Given the description of an element on the screen output the (x, y) to click on. 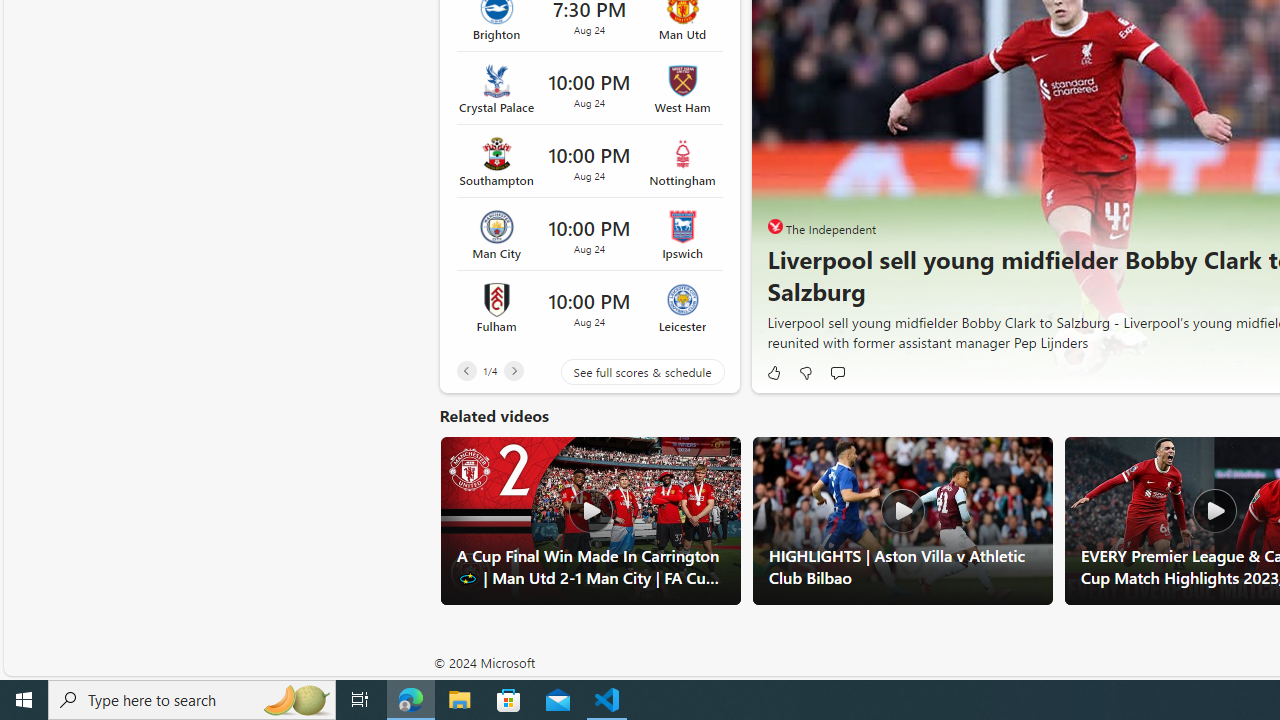
See full scores & schedule (627, 372)
Class: around-the-league-card (589, 307)
